Given the description of an element on the screen output the (x, y) to click on. 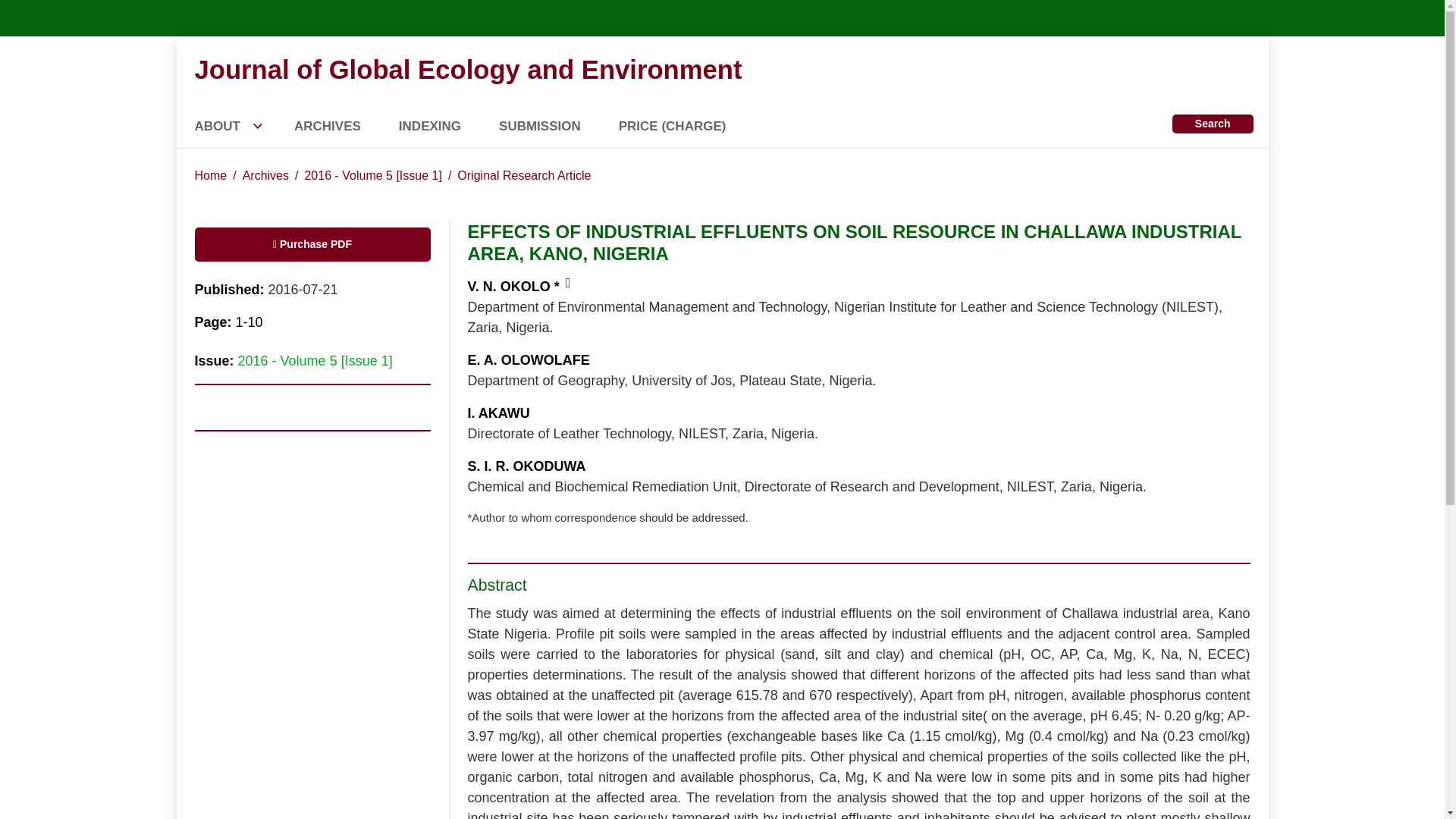
ABOUT (243, 126)
Archives (265, 174)
SUBMISSION (558, 126)
Journal of Global Ecology and Environment (467, 69)
Home (210, 174)
Purchase PDF (311, 244)
ARCHIVES (346, 126)
Search (1212, 123)
INDEXING (448, 126)
